Given the description of an element on the screen output the (x, y) to click on. 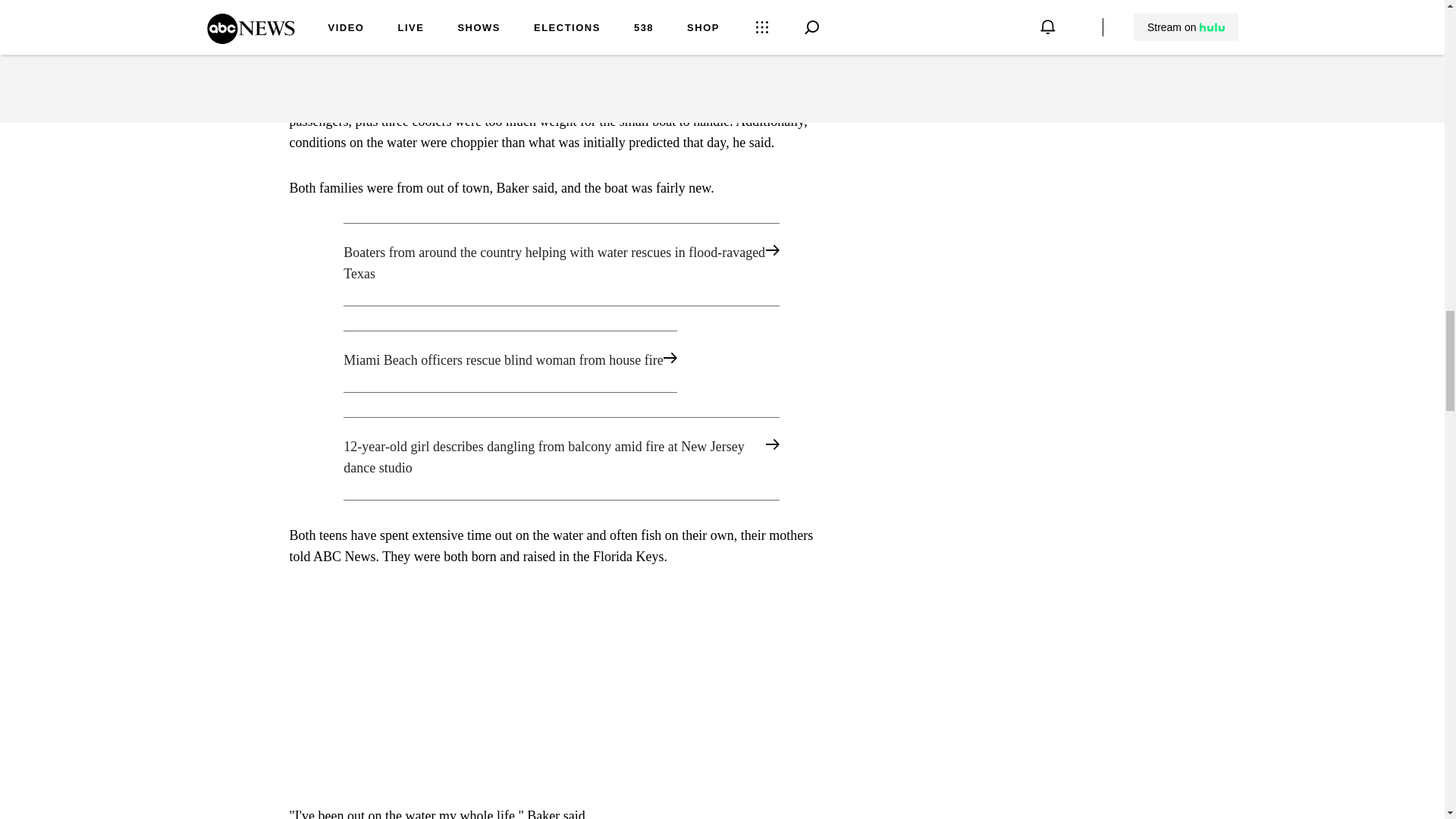
Miami Beach officers rescue blind woman from house fire (560, 361)
